Given the description of an element on the screen output the (x, y) to click on. 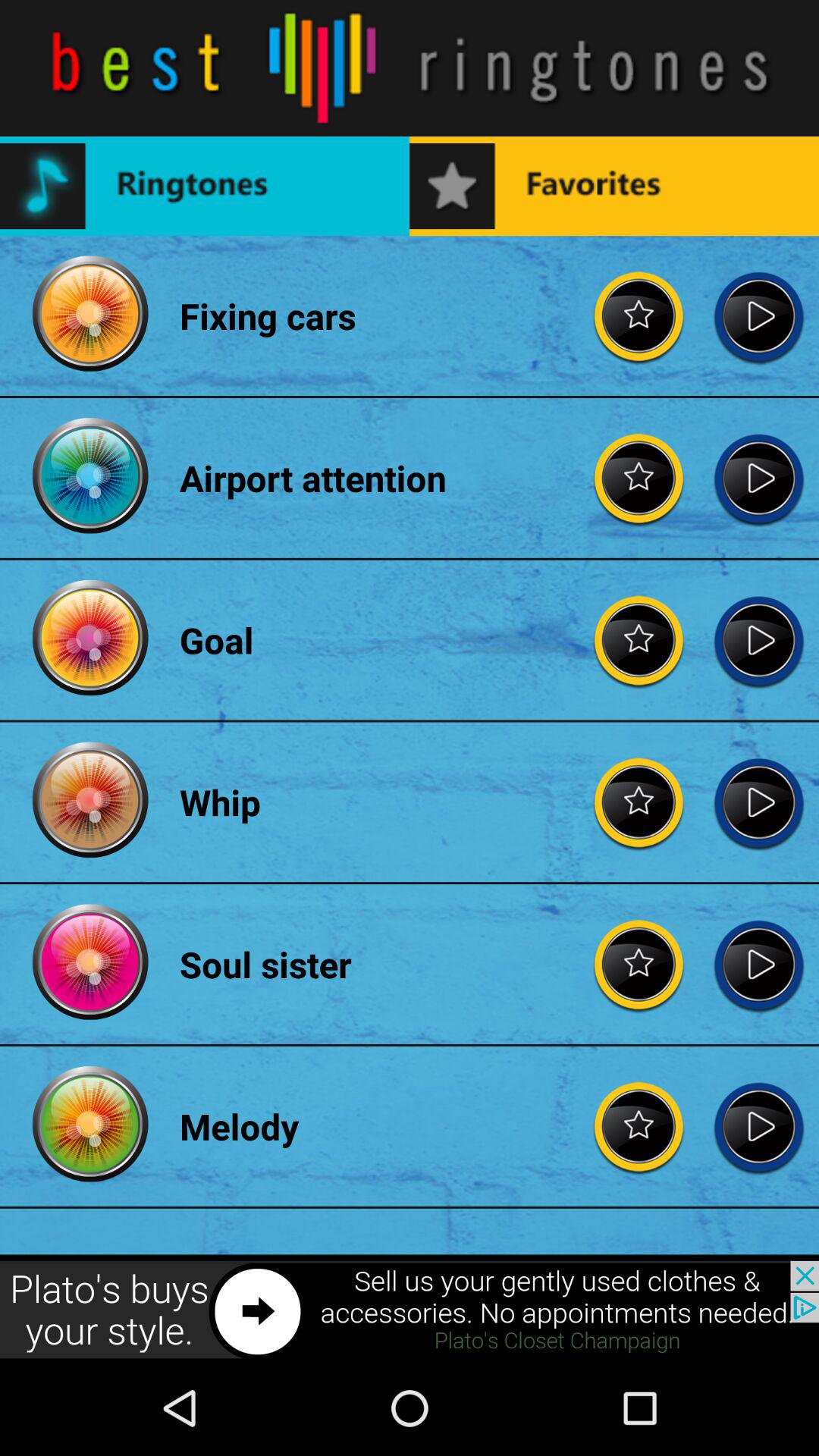
favorite option (639, 315)
